Given the description of an element on the screen output the (x, y) to click on. 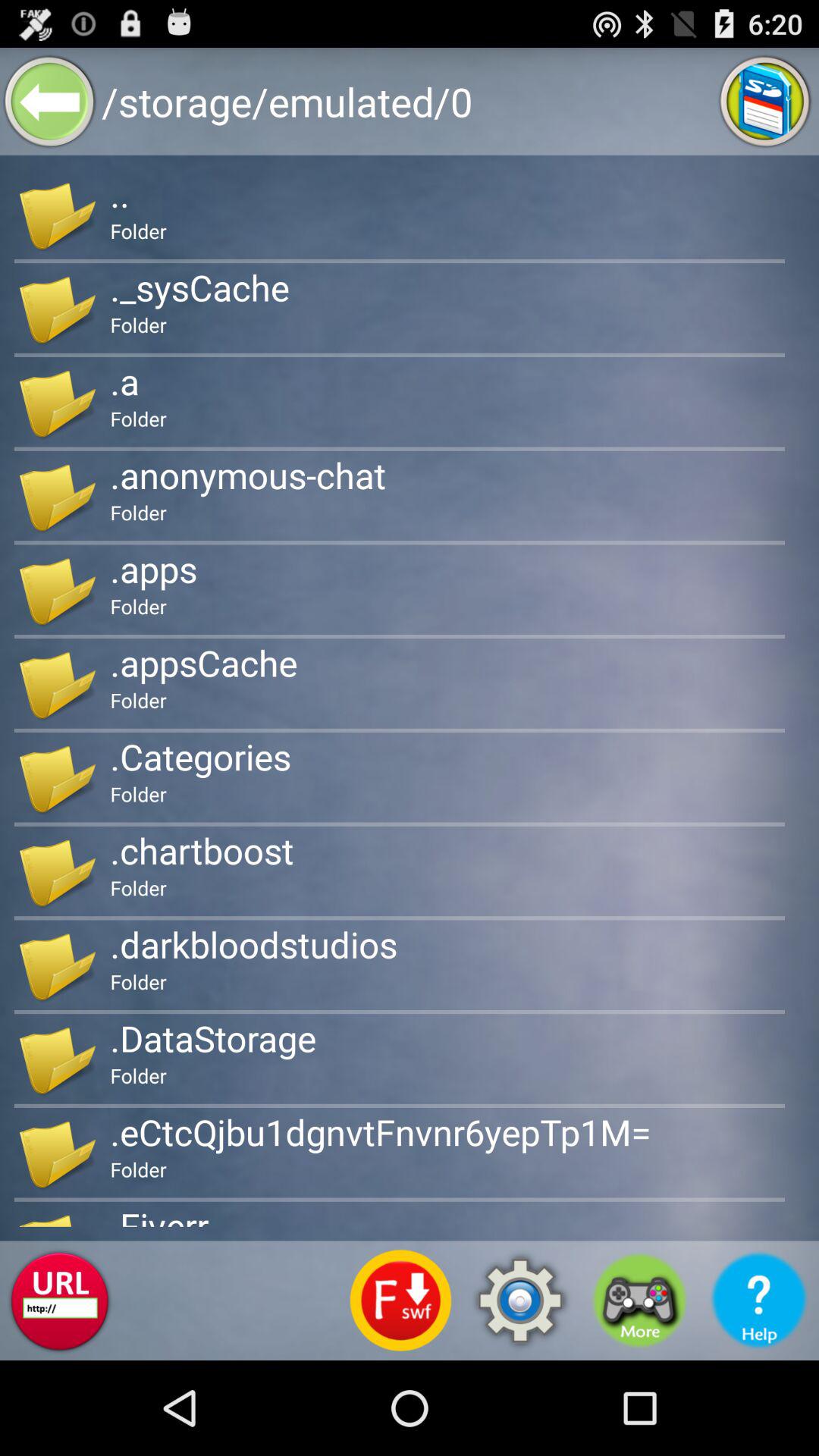
settings (520, 1300)
